Given the description of an element on the screen output the (x, y) to click on. 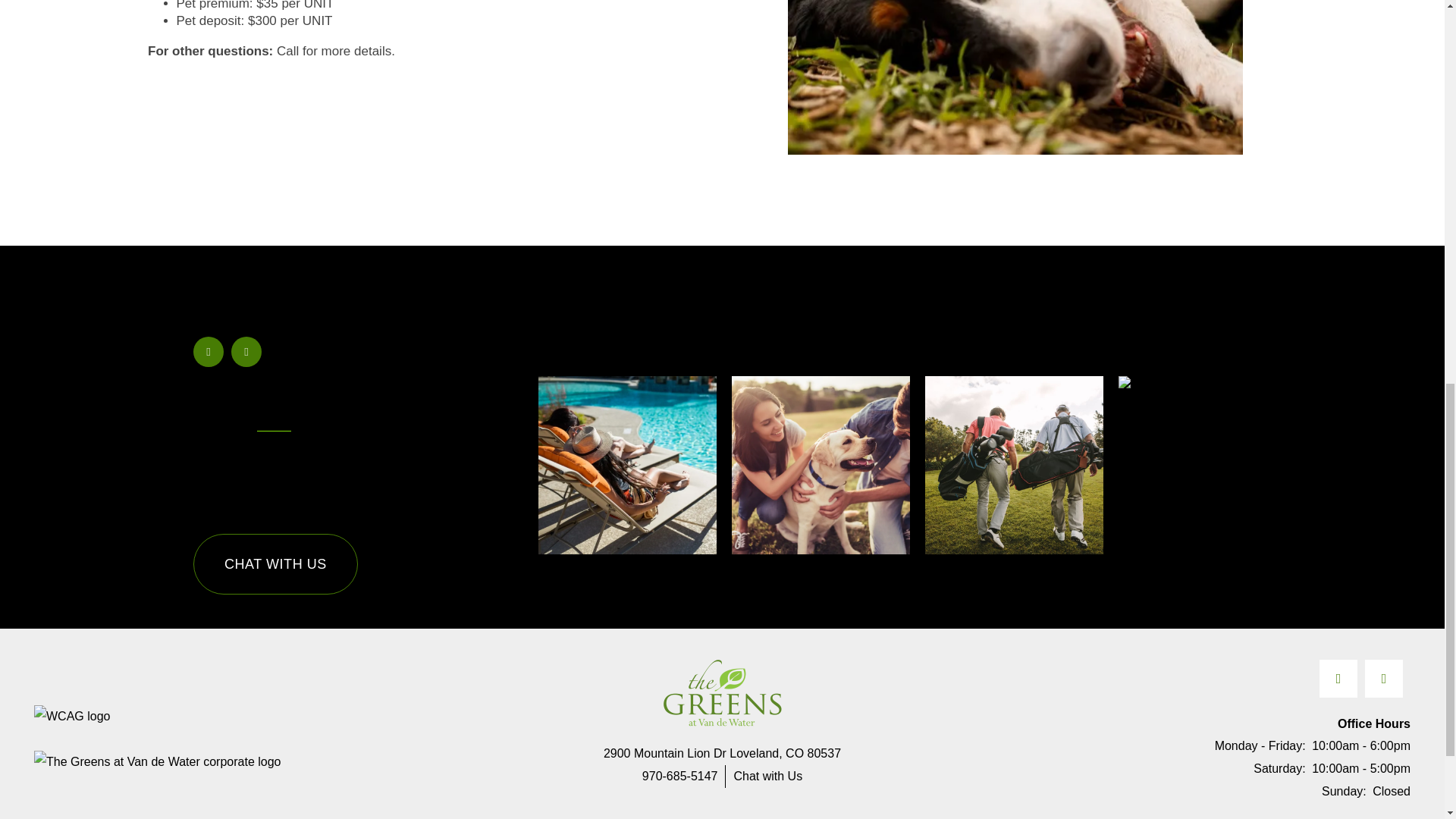
Facebook (208, 351)
CHAT WITH US (275, 563)
Property Phone Number (679, 775)
Google My Business (246, 351)
Facebook (1337, 678)
970-685-5147 (679, 775)
Chat with Us (767, 775)
Google My Business (1384, 678)
2900 Mountain Lion Dr Loveland, CO 80537 (722, 753)
